Given the description of an element on the screen output the (x, y) to click on. 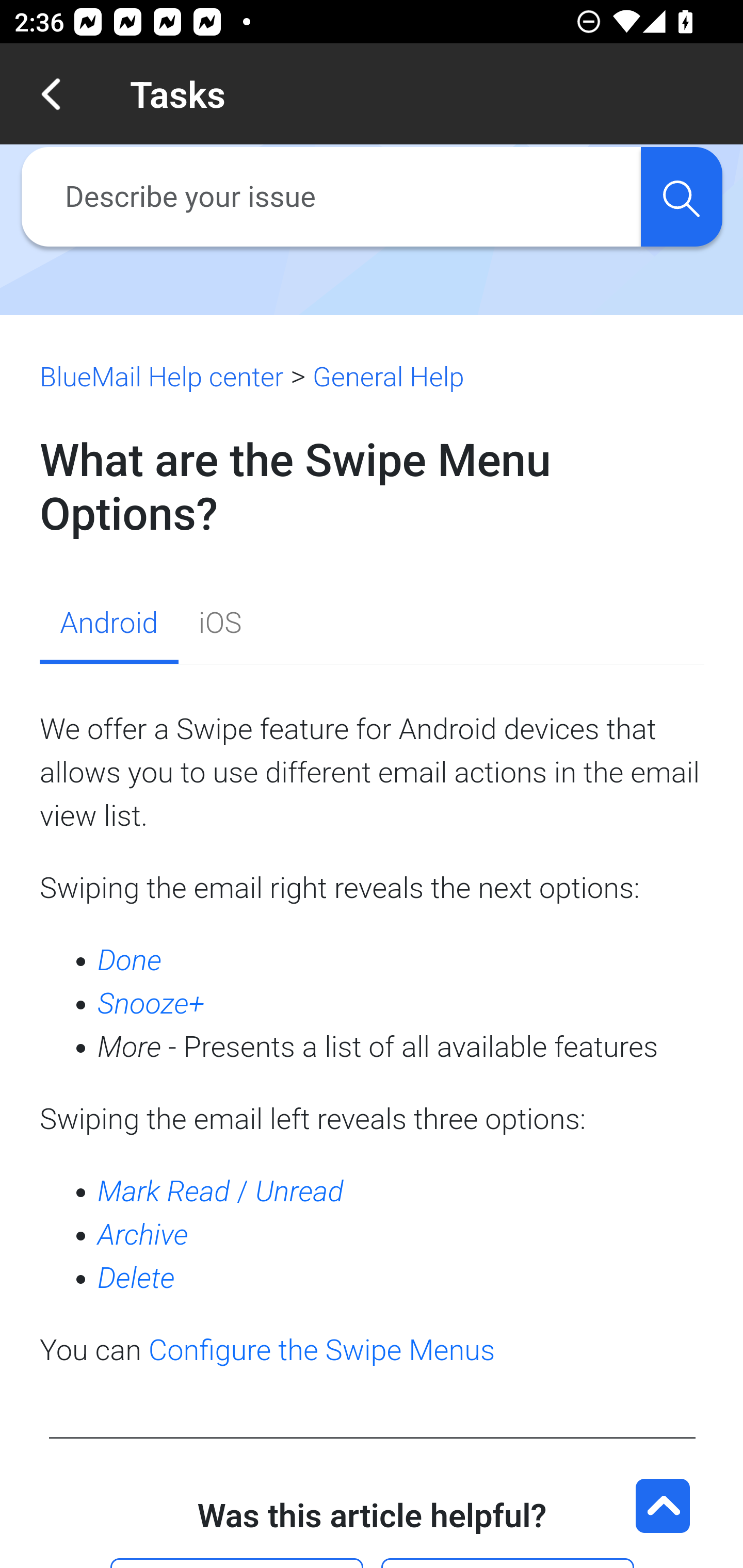
Navigate up (50, 93)
search (680, 196)
BlueMail Help center BlueMail  Help center (162, 376)
General Help (387, 376)
Android (108, 626)
iOS (219, 626)
Done (129, 960)
Snooze+ (151, 1004)
Mark Read / Unread Mark Read  /  Unread (220, 1190)
Archive (143, 1234)
Delete (135, 1278)
Configure the Swipe Menus (321, 1350)
